Given the description of an element on the screen output the (x, y) to click on. 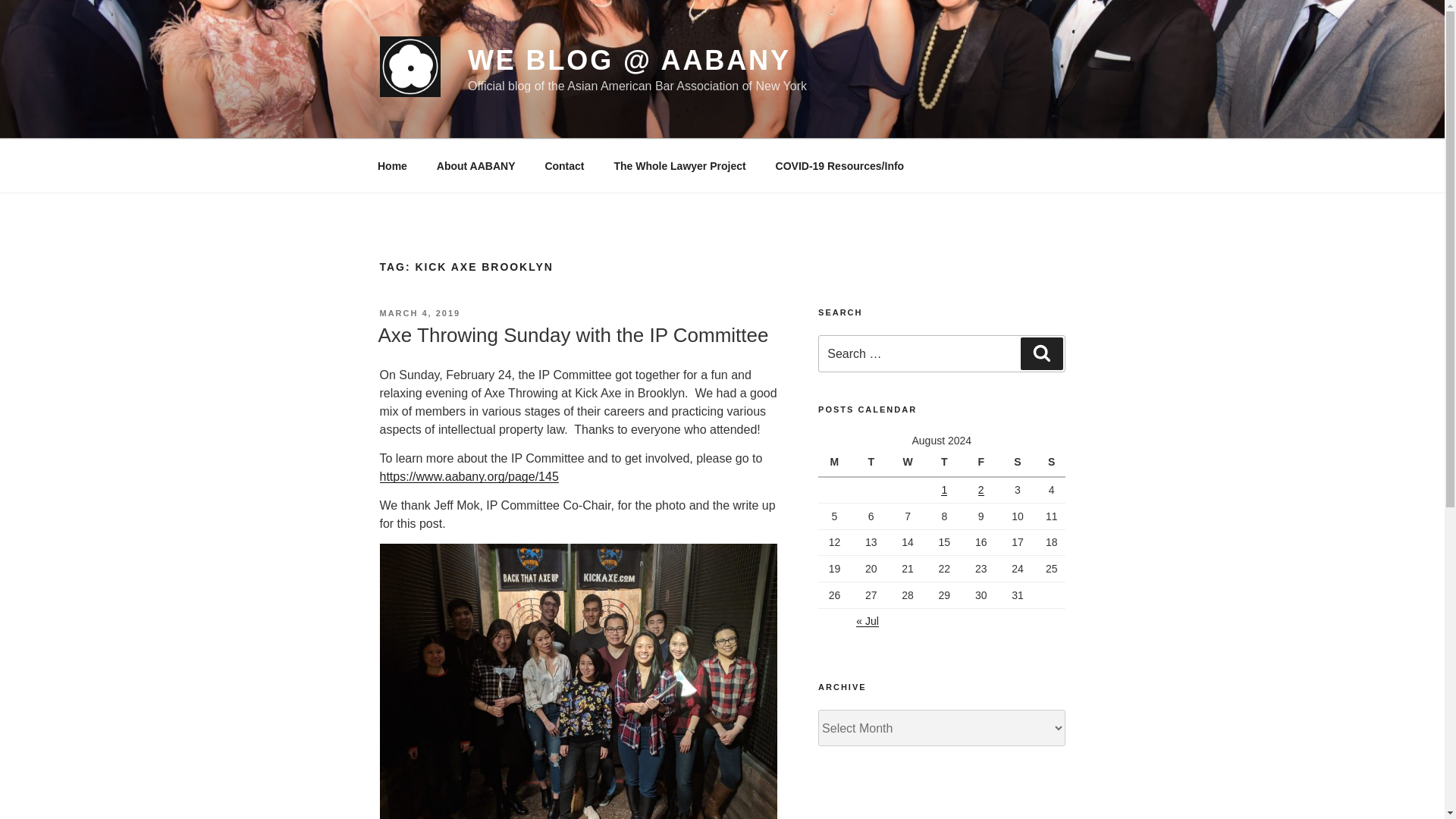
Home (392, 165)
Contact (563, 165)
Saturday (1019, 462)
Wednesday (909, 462)
Friday (982, 462)
Sunday (1051, 462)
Tuesday (872, 462)
Thursday (945, 462)
MARCH 4, 2019 (419, 312)
Search (1041, 353)
